Given the description of an element on the screen output the (x, y) to click on. 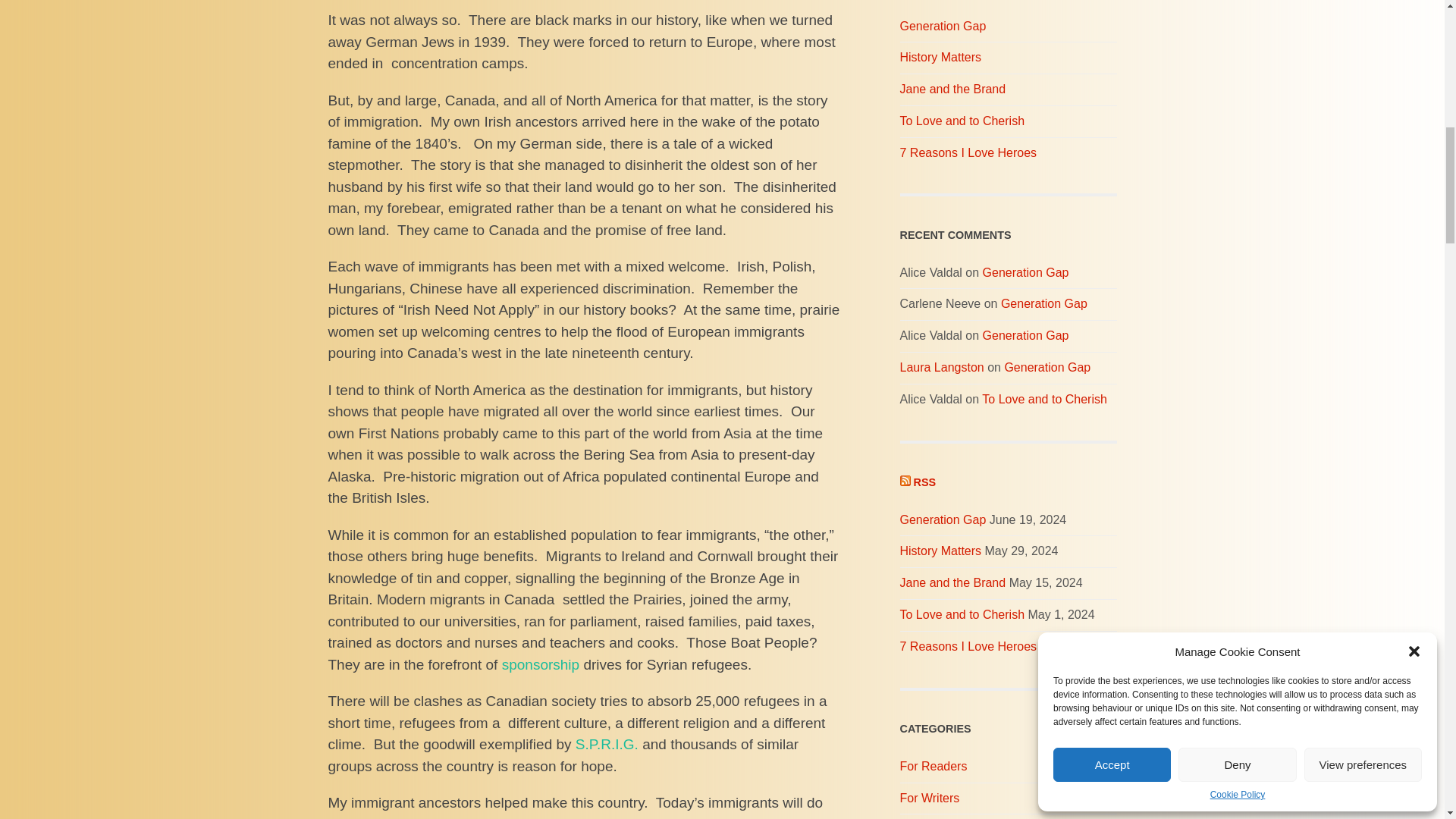
Generation Gap (1007, 26)
History Matters (1007, 57)
sponsorship (542, 664)
S.P.R.I.G. (607, 744)
